Given the description of an element on the screen output the (x, y) to click on. 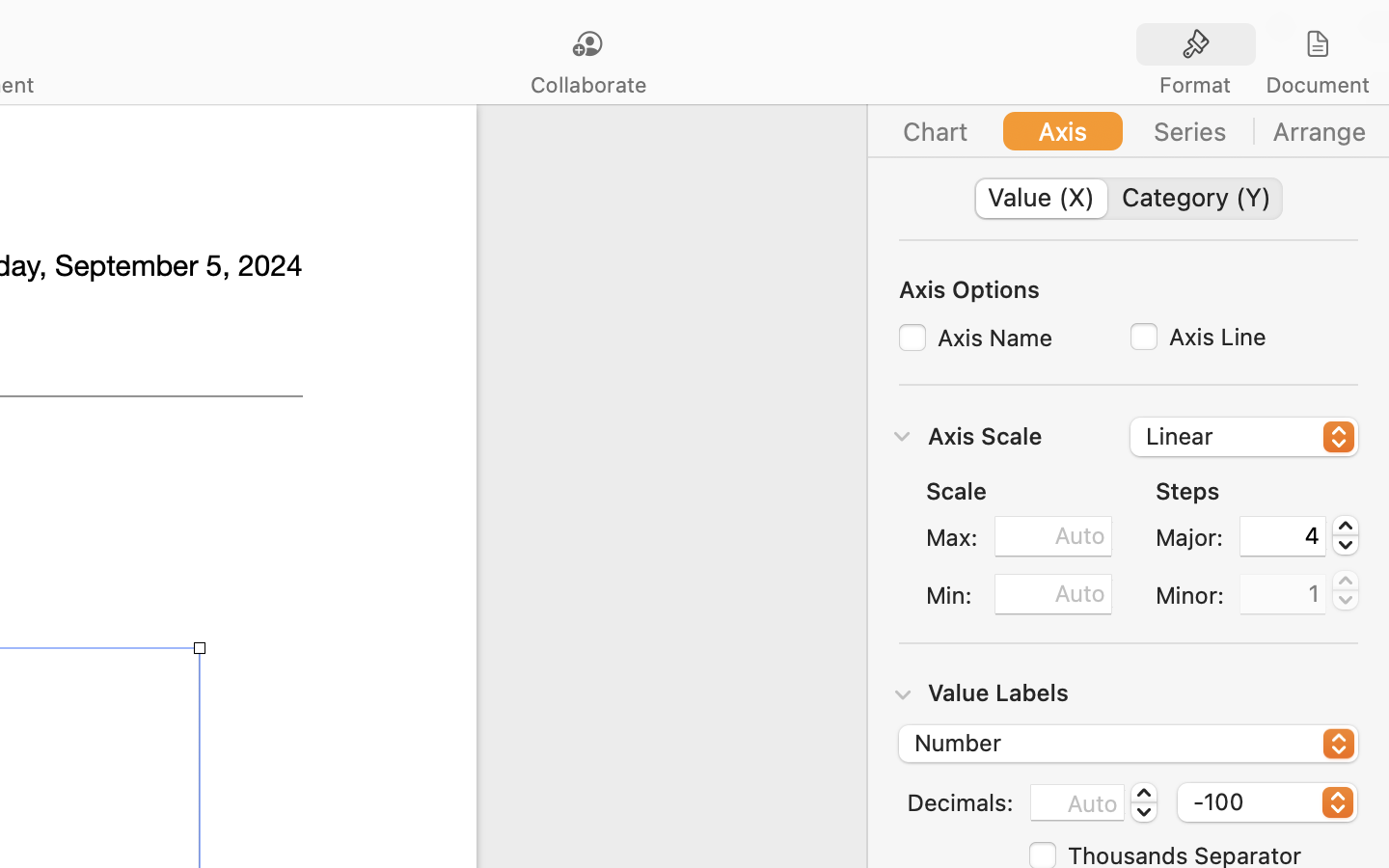
Scale Element type: AXStaticText (956, 490)
<AXUIElement 0x1737db090> {pid=1482} Element type: AXRadioGroup (1128, 131)
Value Labels Element type: AXStaticText (998, 691)
Min: Element type: AXStaticText (951, 594)
Max: Element type: AXStaticText (951, 536)
